Given the description of an element on the screen output the (x, y) to click on. 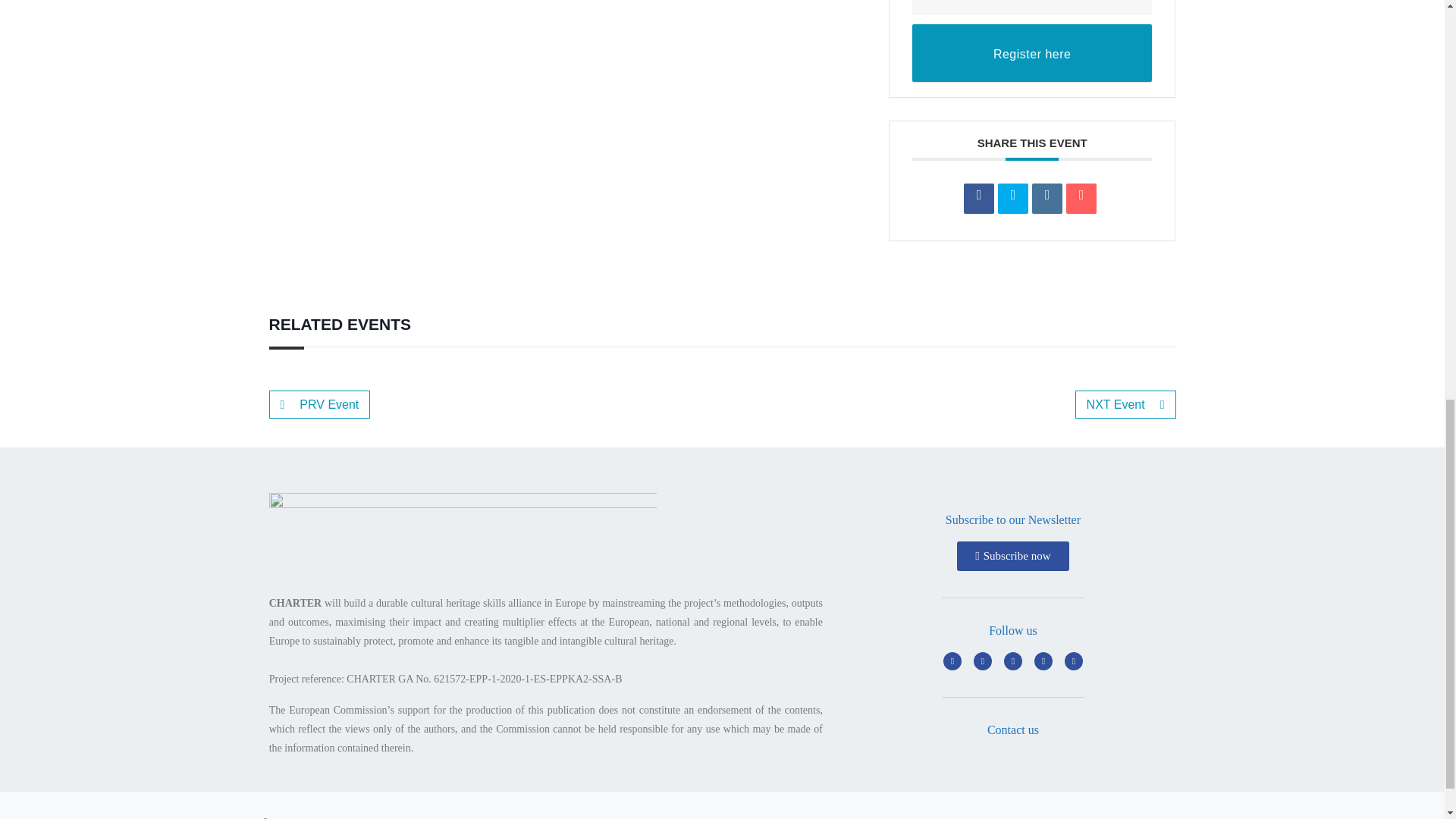
Register here (1032, 52)
NXT Event (1125, 404)
Email (1080, 198)
Tweet (1012, 198)
Subscribe now (1012, 555)
Linkedin (1047, 198)
Share on Facebook (978, 198)
PRV Event (318, 404)
